Given the description of an element on the screen output the (x, y) to click on. 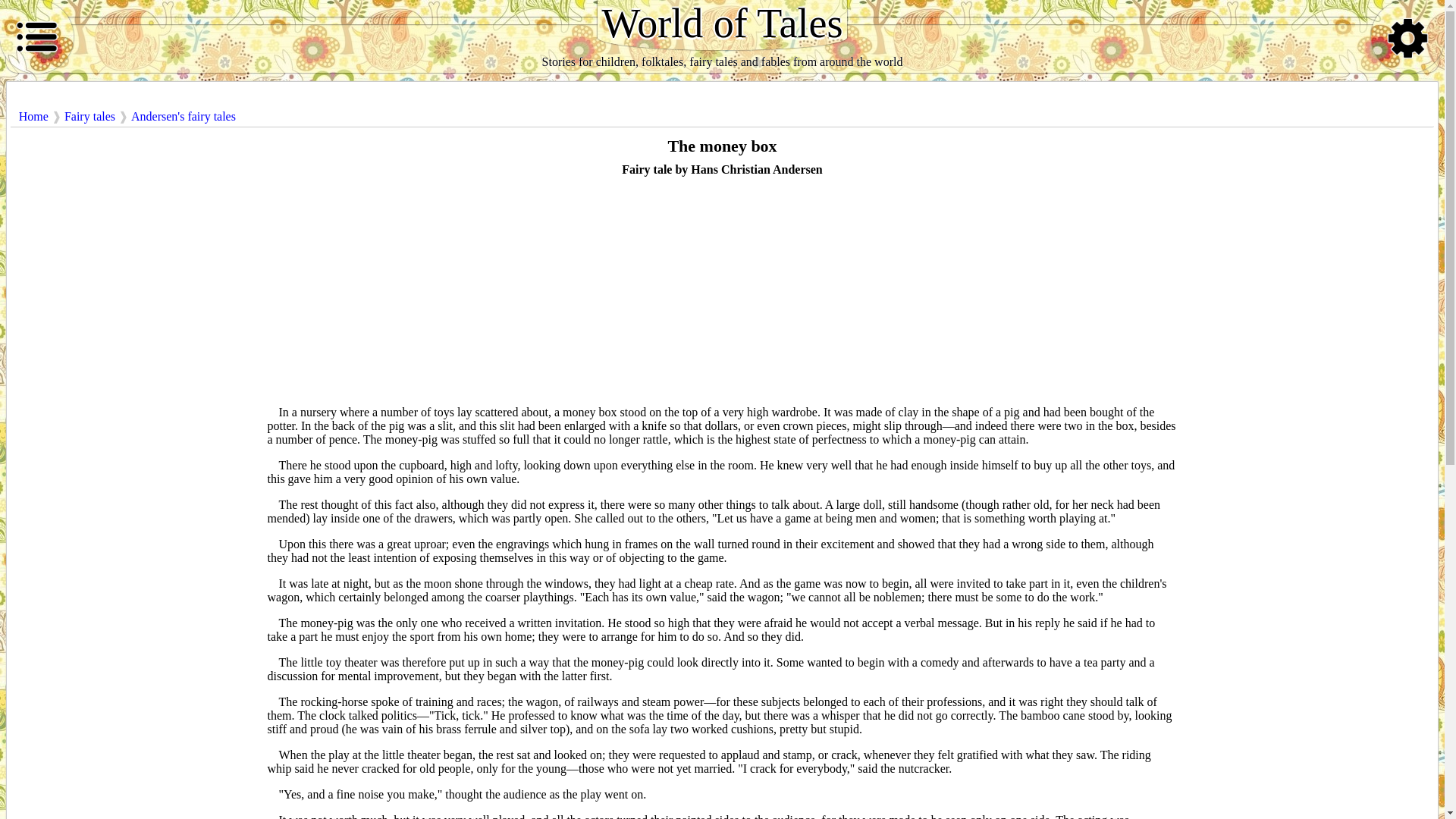
Home (33, 116)
Andersen's fairy tales (183, 116)
Fairy tales (89, 116)
World of Tales (721, 25)
